Given the description of an element on the screen output the (x, y) to click on. 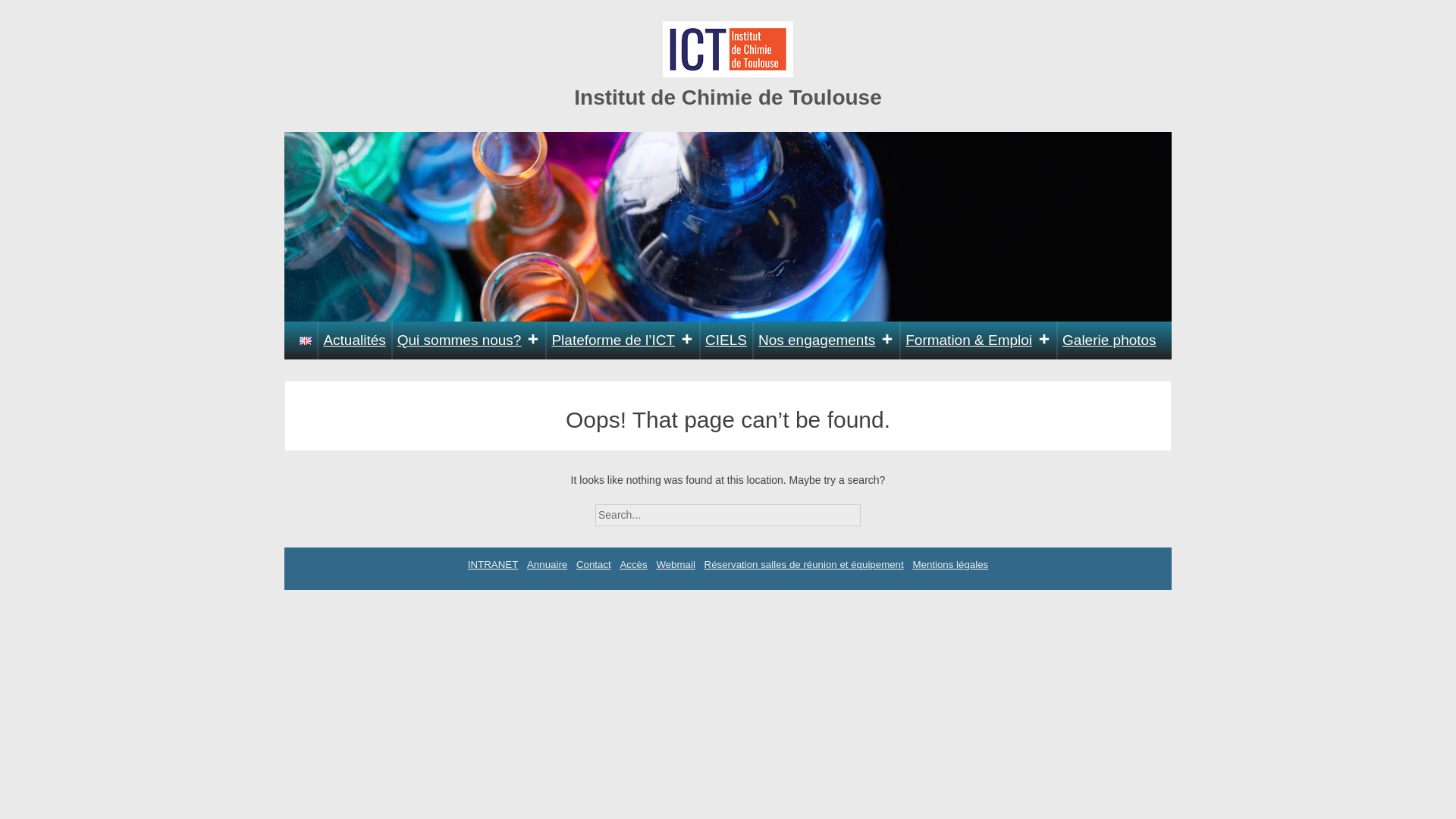
Nos engagements (825, 340)
Search (873, 509)
Institut de Chimie de Toulouse (727, 97)
Search (873, 509)
Qui sommes nous? (468, 340)
CIELS (726, 340)
